Given the description of an element on the screen output the (x, y) to click on. 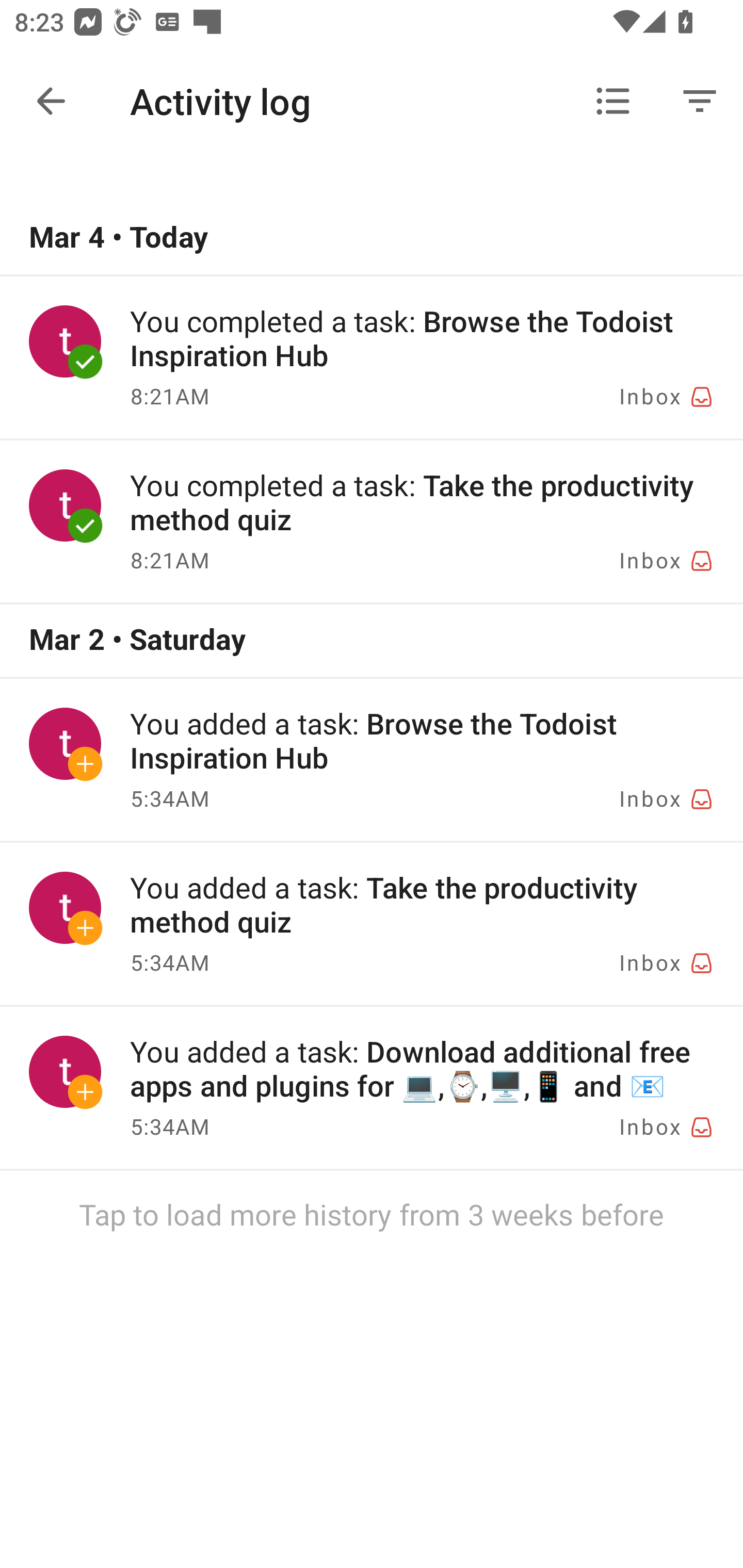
Navigate up (50, 101)
By project (612, 101)
Filter (699, 101)
Mar 4 • Today (371, 238)
Mar 2 • Saturday (371, 641)
Tap to load more history from 3 weeks before (371, 1214)
